Given the description of an element on the screen output the (x, y) to click on. 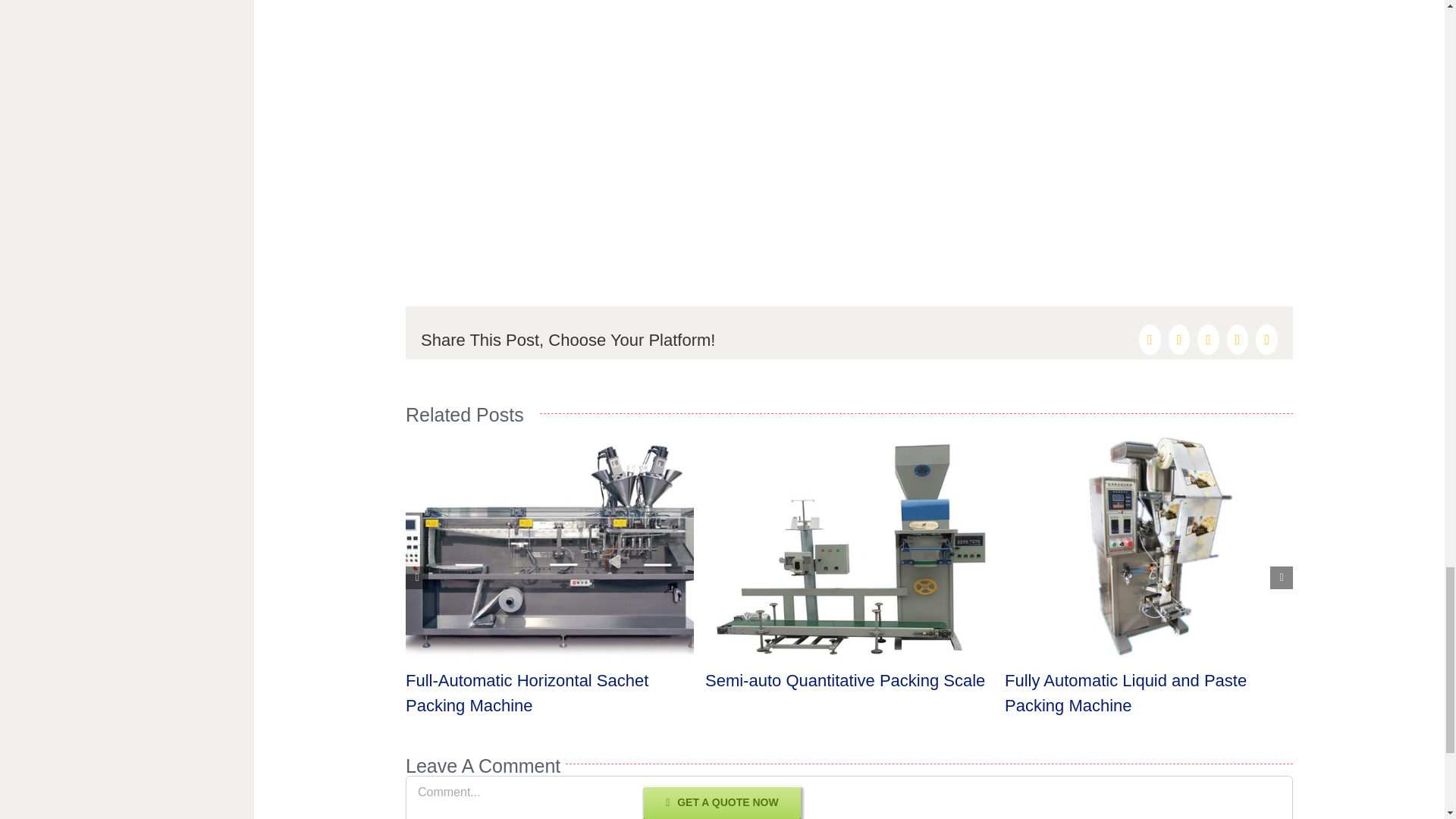
Full-Automatic Horizontal Sachet Packing Machine (526, 692)
Semi-auto Quantitative Packing Scale (844, 680)
Fully Automatic Liquid and Paste Packing Machine (1125, 692)
